Given the description of an element on the screen output the (x, y) to click on. 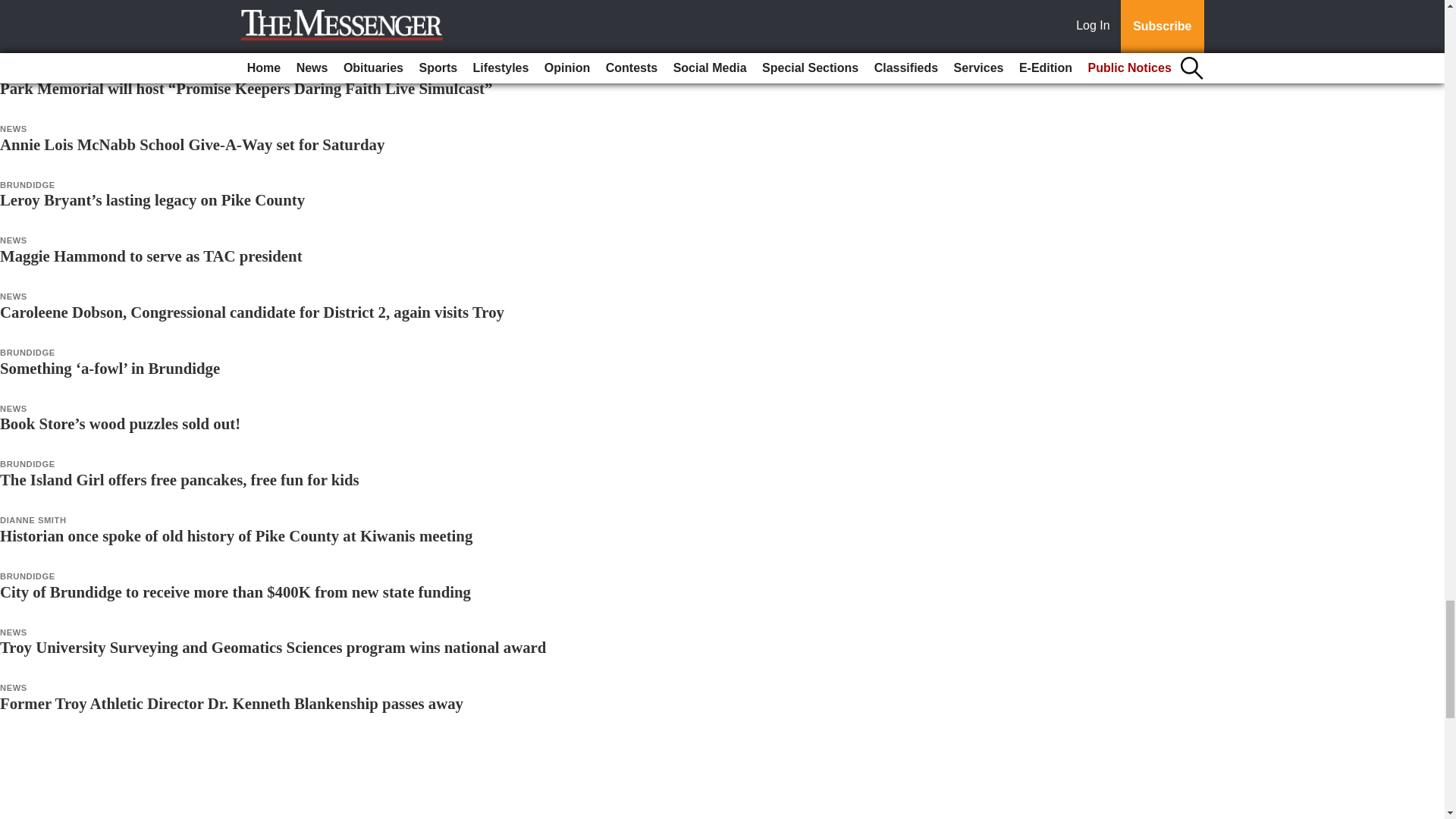
Annie Lois McNabb School Give-A-Way set for Saturday (192, 144)
Mama Jays free pancake breakfast is Saturday (157, 31)
Maggie Hammond to serve as TAC president (151, 255)
